Given the description of an element on the screen output the (x, y) to click on. 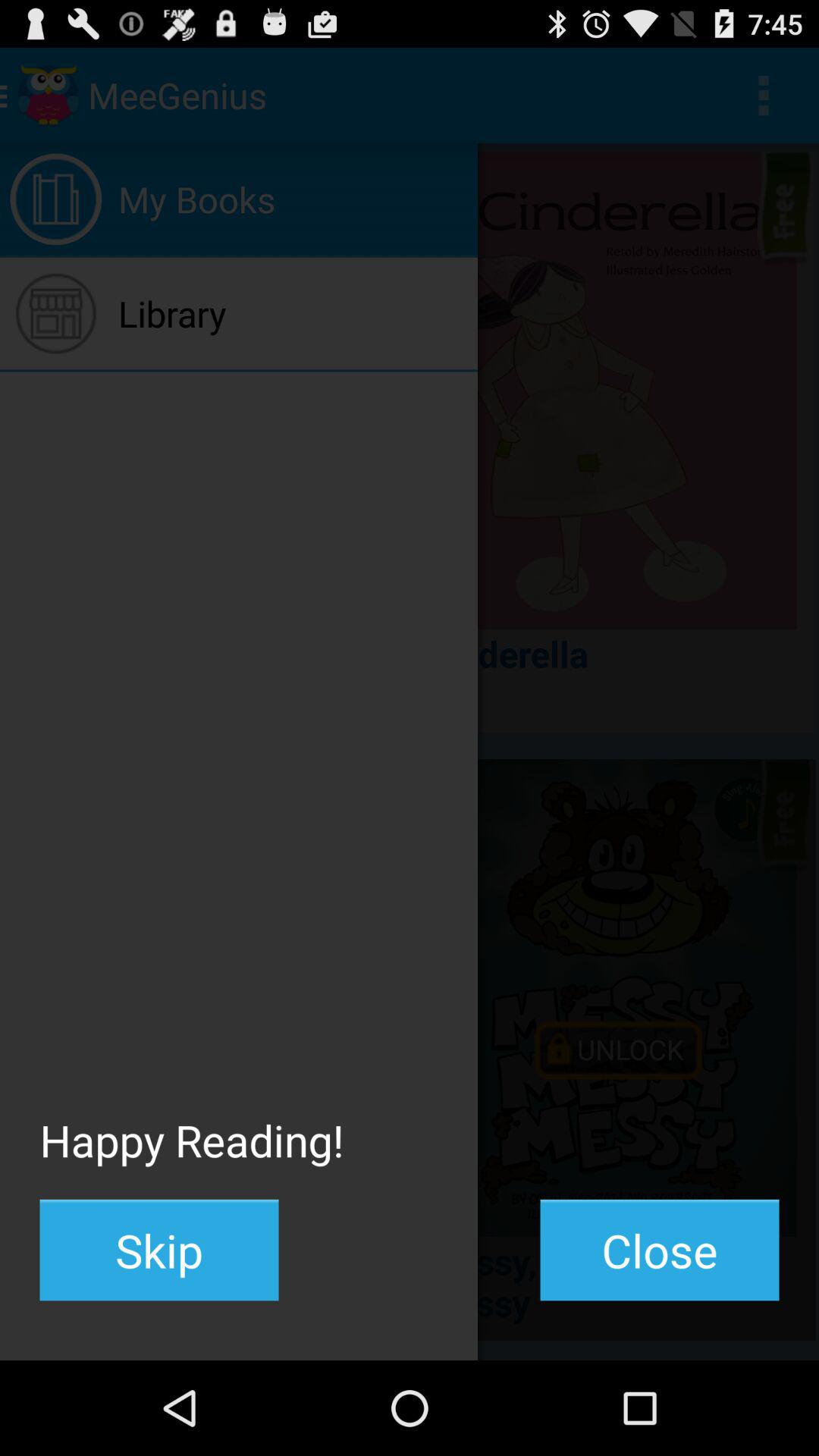
jump until skip button (158, 1249)
